Given the description of an element on the screen output the (x, y) to click on. 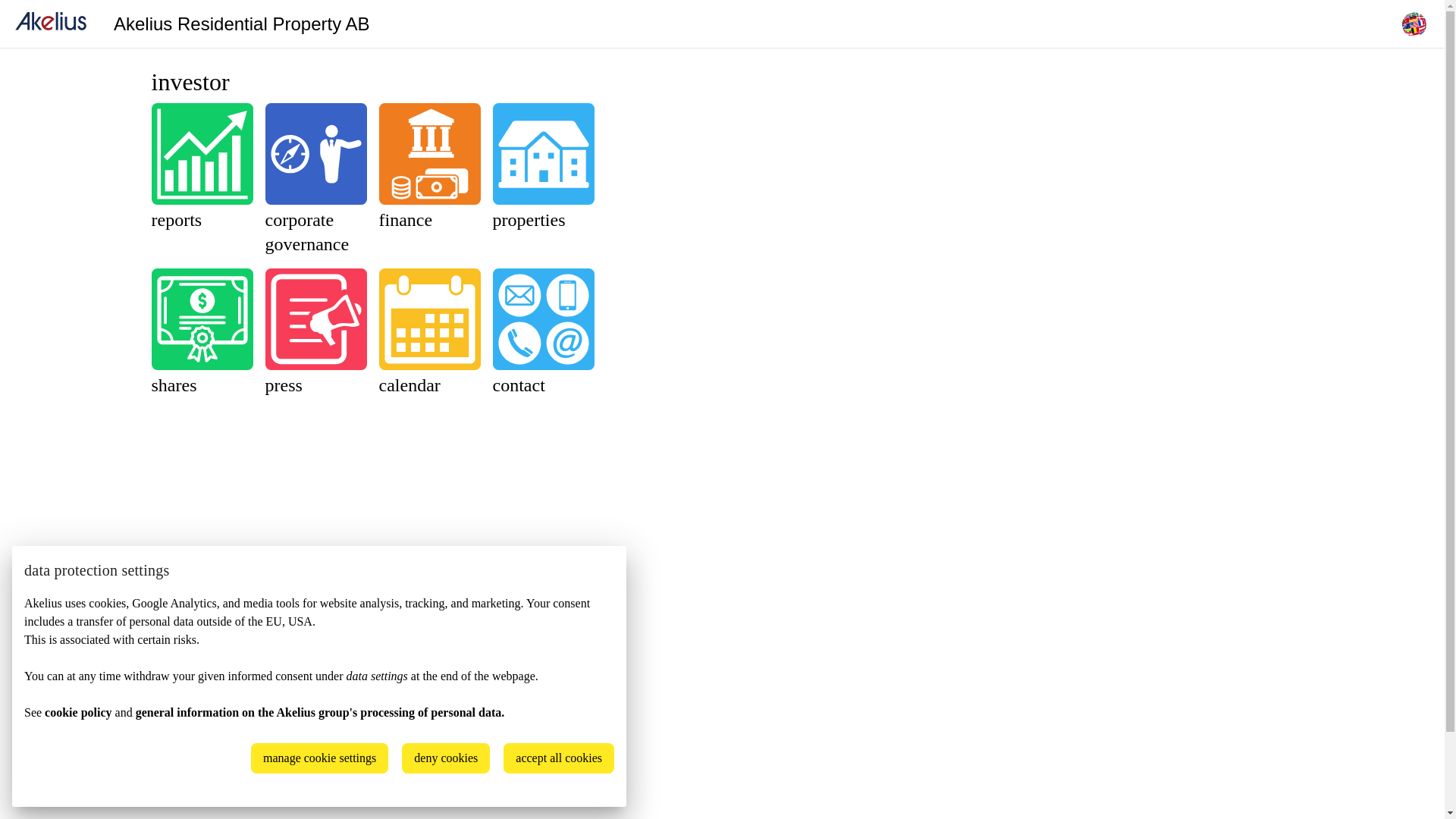
cookie policy Element type: text (77, 712)
contact Element type: text (543, 332)
corporate governance Element type: text (316, 179)
accept all cookies Element type: text (558, 758)
press Element type: text (316, 332)
manage cookie settings Element type: text (319, 758)
properties Element type: text (543, 167)
shares Element type: text (202, 332)
reports Element type: text (202, 167)
finance Element type: text (429, 167)
calendar Element type: text (429, 332)
deny cookies Element type: text (445, 758)
